Given the description of an element on the screen output the (x, y) to click on. 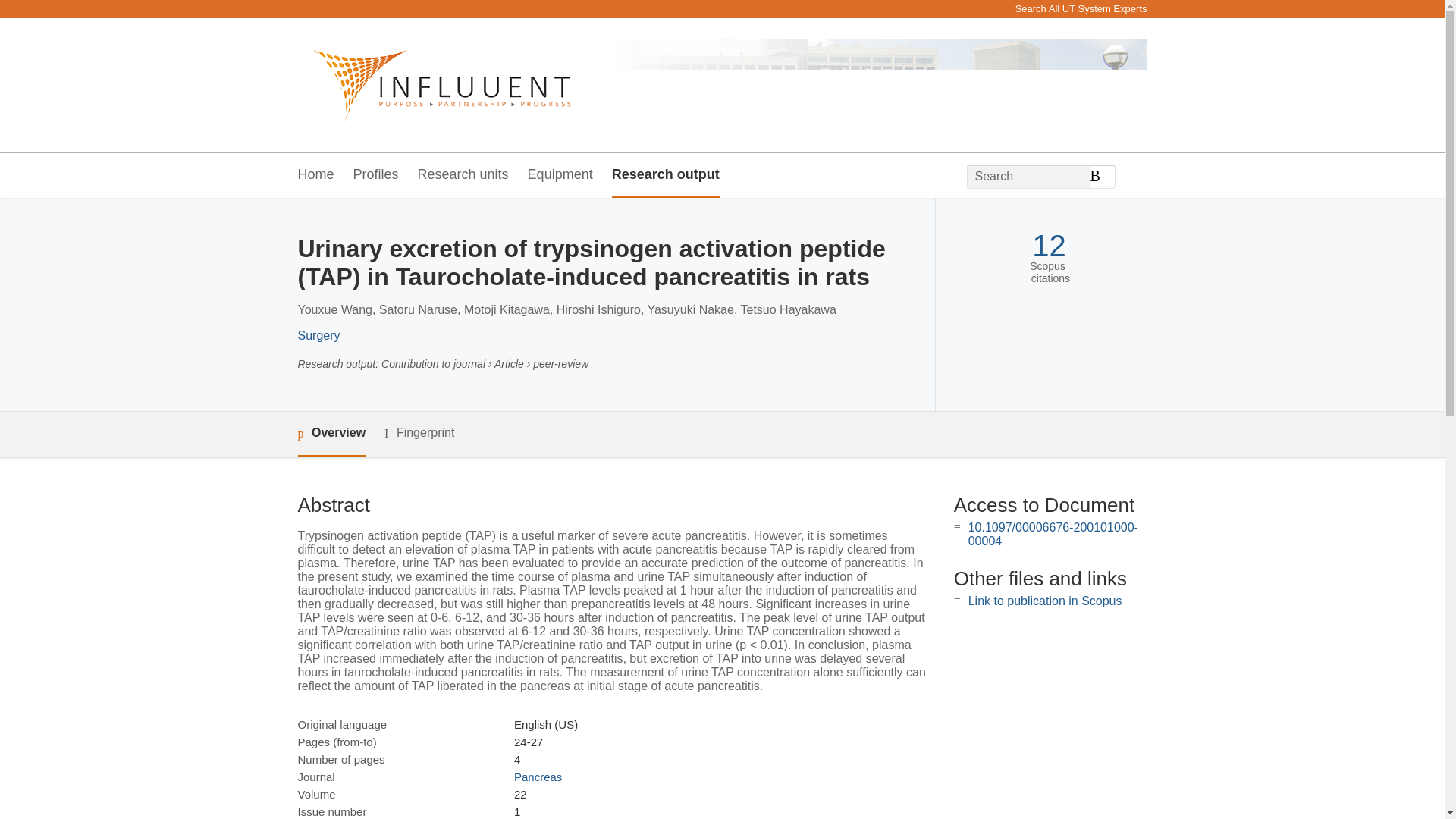
Research output (665, 175)
Fingerprint (419, 433)
Link to publication in Scopus (1045, 600)
University of Texas Southwestern Medical Center Home (434, 85)
Research units (462, 175)
Pancreas (537, 776)
Profiles (375, 175)
Overview (331, 433)
12 (1048, 245)
